Given the description of an element on the screen output the (x, y) to click on. 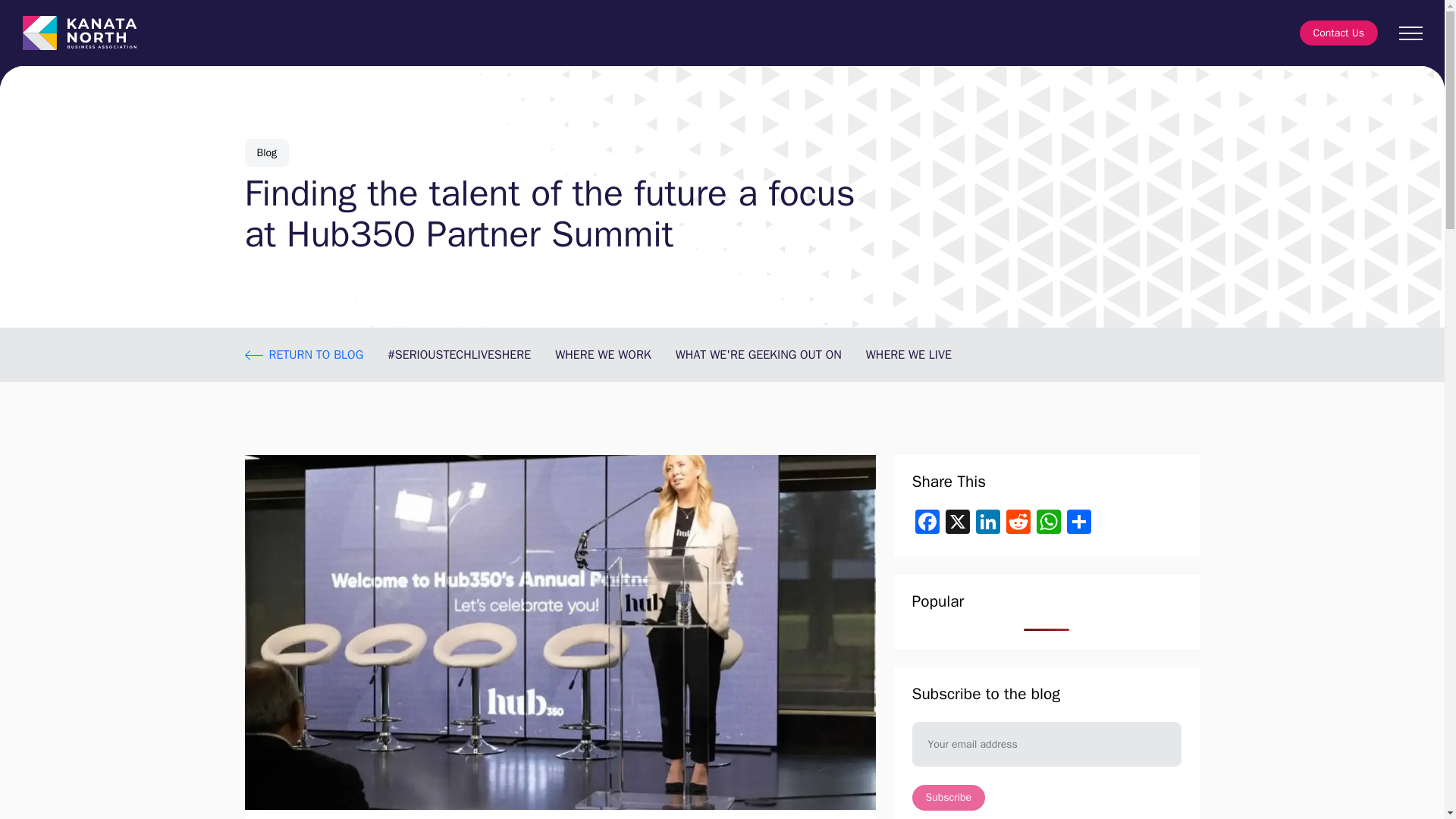
Contact Us (1338, 32)
WHERE WE WORK (602, 354)
LinkedIn (987, 523)
X (957, 523)
Subscribe (948, 797)
Reddit (1017, 523)
Facebook (926, 523)
WhatsApp (1047, 523)
RETURN TO BLOG (303, 354)
Kanata North BA (79, 33)
